Given the description of an element on the screen output the (x, y) to click on. 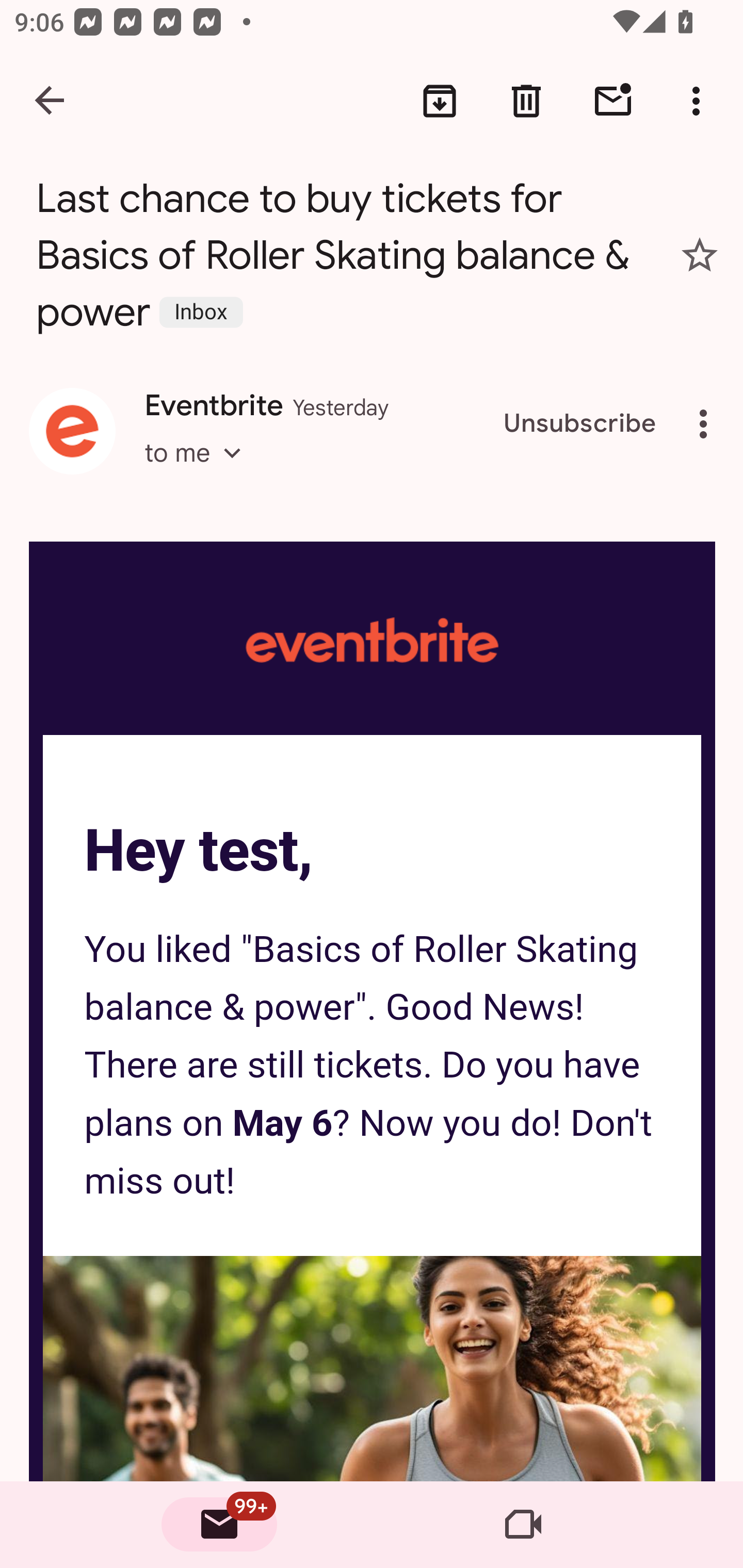
Navigate up (50, 101)
Archive (439, 101)
Delete (525, 101)
Mark unread (612, 101)
More options (699, 101)
Add star (699, 254)
Unsubscribe (579, 424)
More options (706, 424)
Show contact information for Eventbrite (71, 431)
to me (199, 471)
Meet (523, 1524)
